Given the description of an element on the screen output the (x, y) to click on. 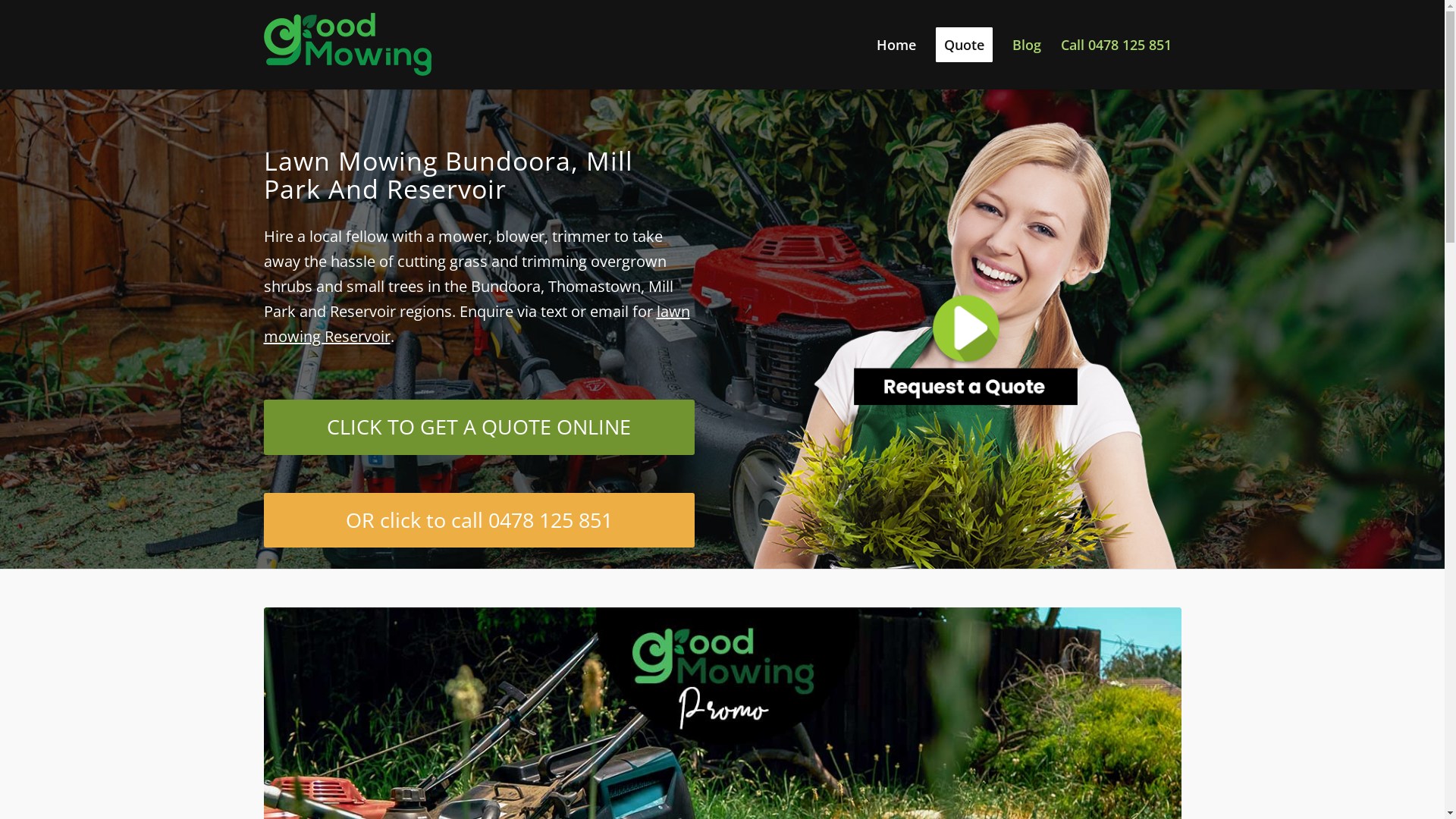
Bundoora Lawn Mowing and Grass Cutting Services Element type: hover (965, 327)
lawn mowing Reservoir Element type: text (476, 323)
Blog Element type: text (1026, 44)
CLICK TO GET A QUOTE ONLINE Element type: text (479, 426)
Home Element type: text (895, 44)
Call 0478 125 851 Element type: text (1116, 44)
Quote Element type: text (963, 44)
OR click to call 0478 125 851 Element type: text (479, 519)
